Given the description of an element on the screen output the (x, y) to click on. 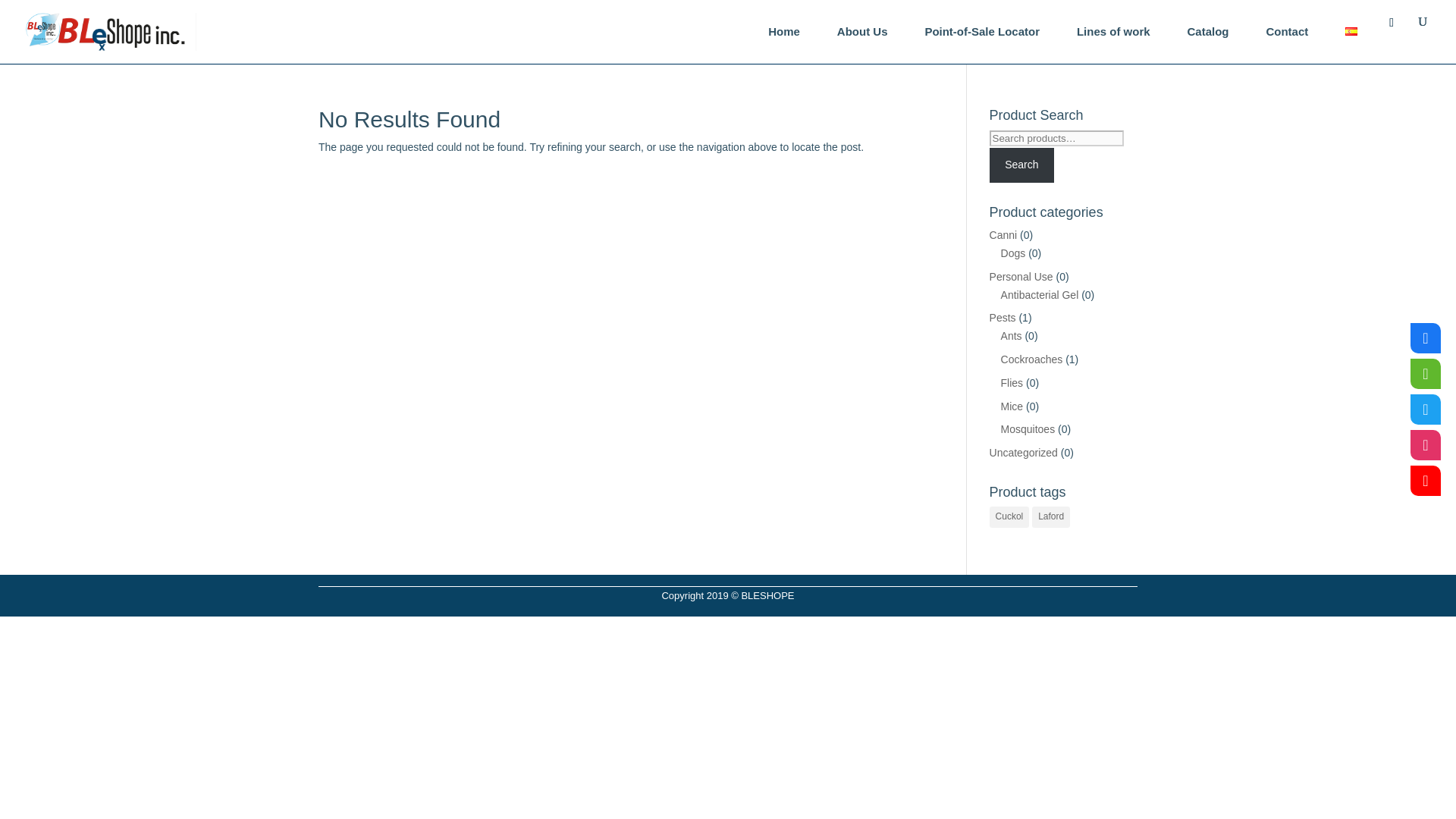
Cuckol (1009, 516)
About Us (862, 31)
Canni (1003, 234)
Flies (1012, 382)
Point-of-Sale Locator (981, 31)
Personal Use (1021, 276)
Follow us! (1425, 337)
Follow us! (1425, 444)
Catalog (1208, 31)
Ants (1011, 336)
